Given the description of an element on the screen output the (x, y) to click on. 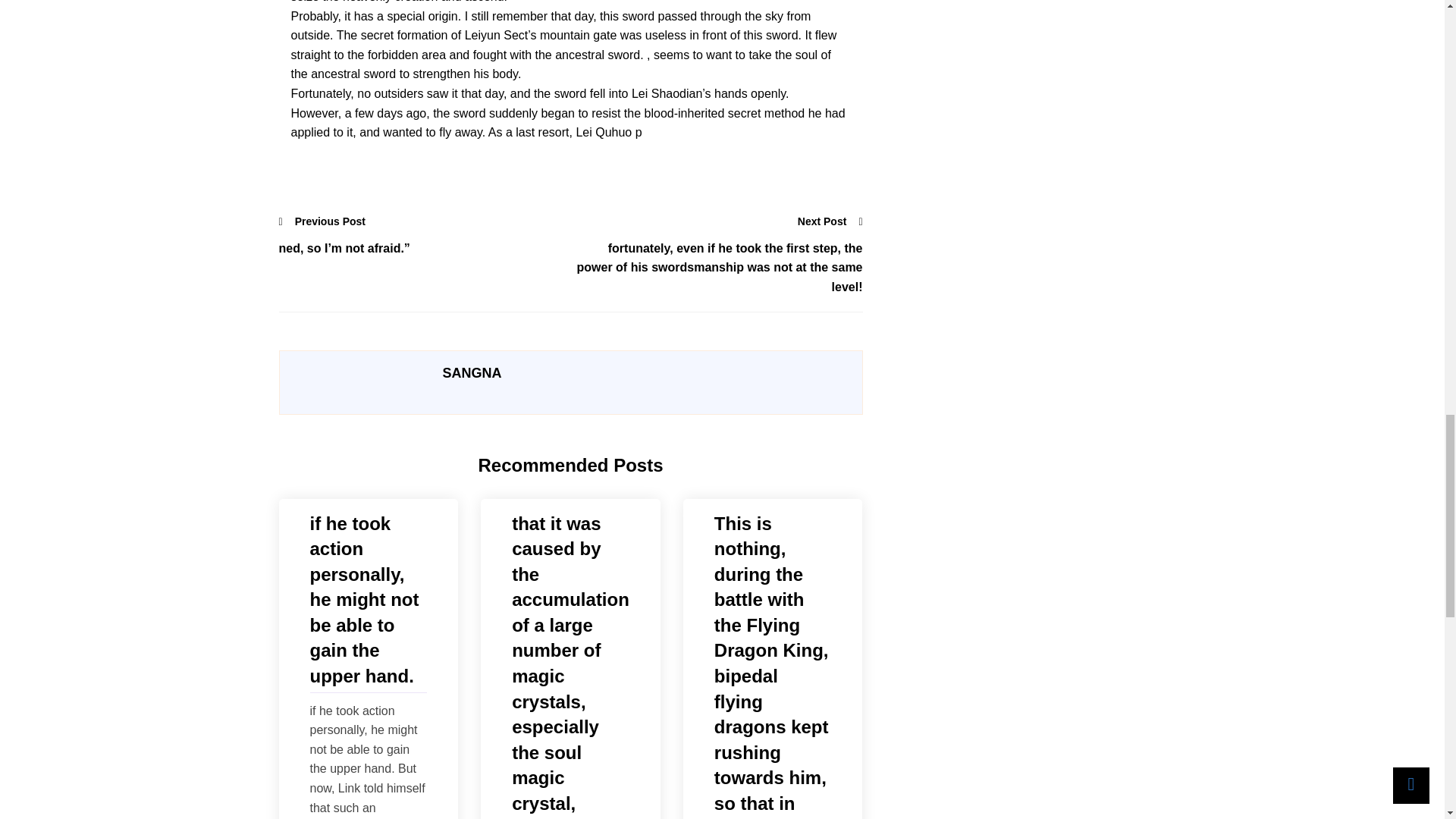
Previous Post (322, 221)
Next Post (830, 221)
